Given the description of an element on the screen output the (x, y) to click on. 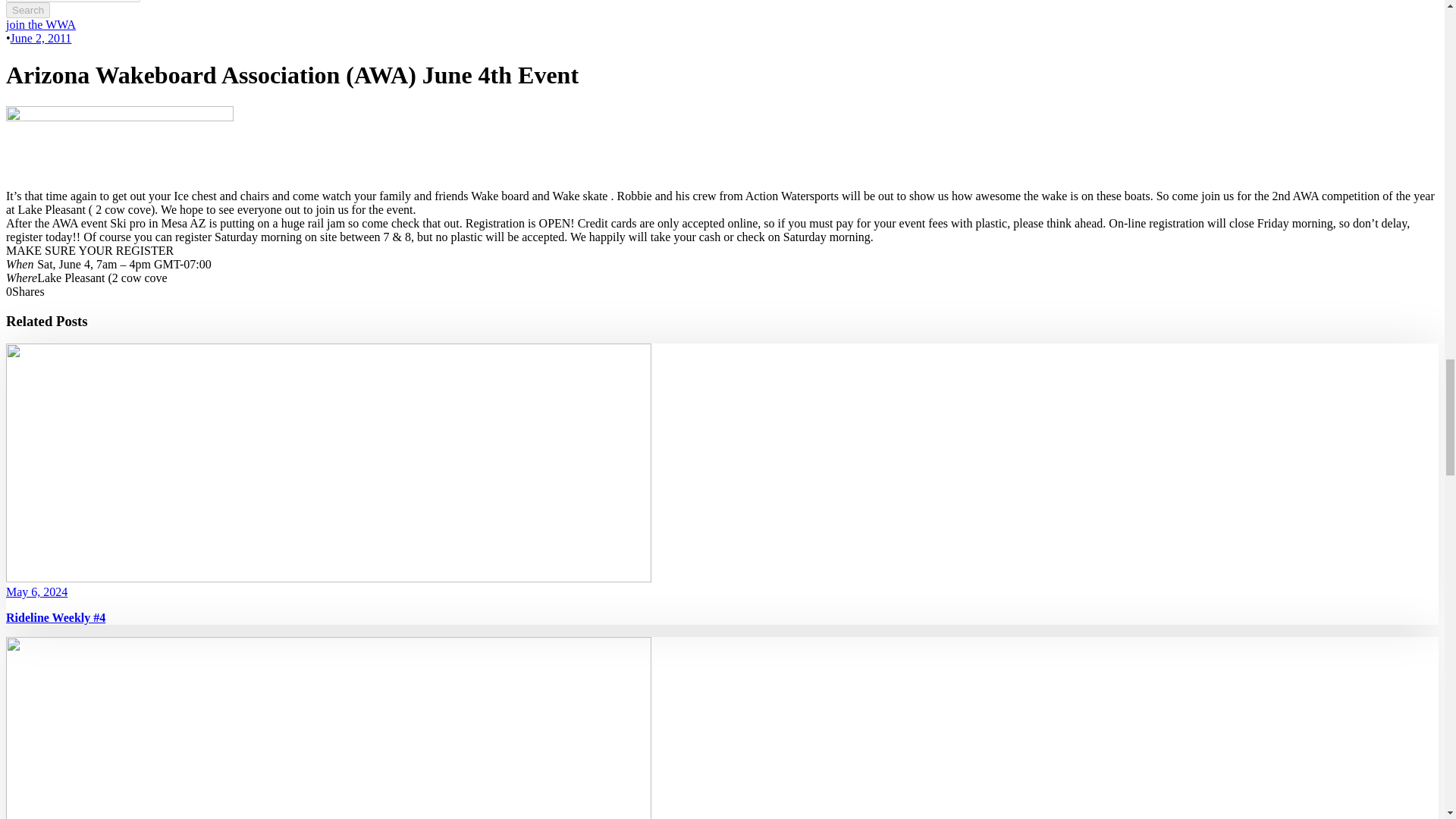
Rideline Weekly Template-3 (327, 728)
AWA decal (118, 147)
Search (27, 10)
Search (27, 10)
